Given the description of an element on the screen output the (x, y) to click on. 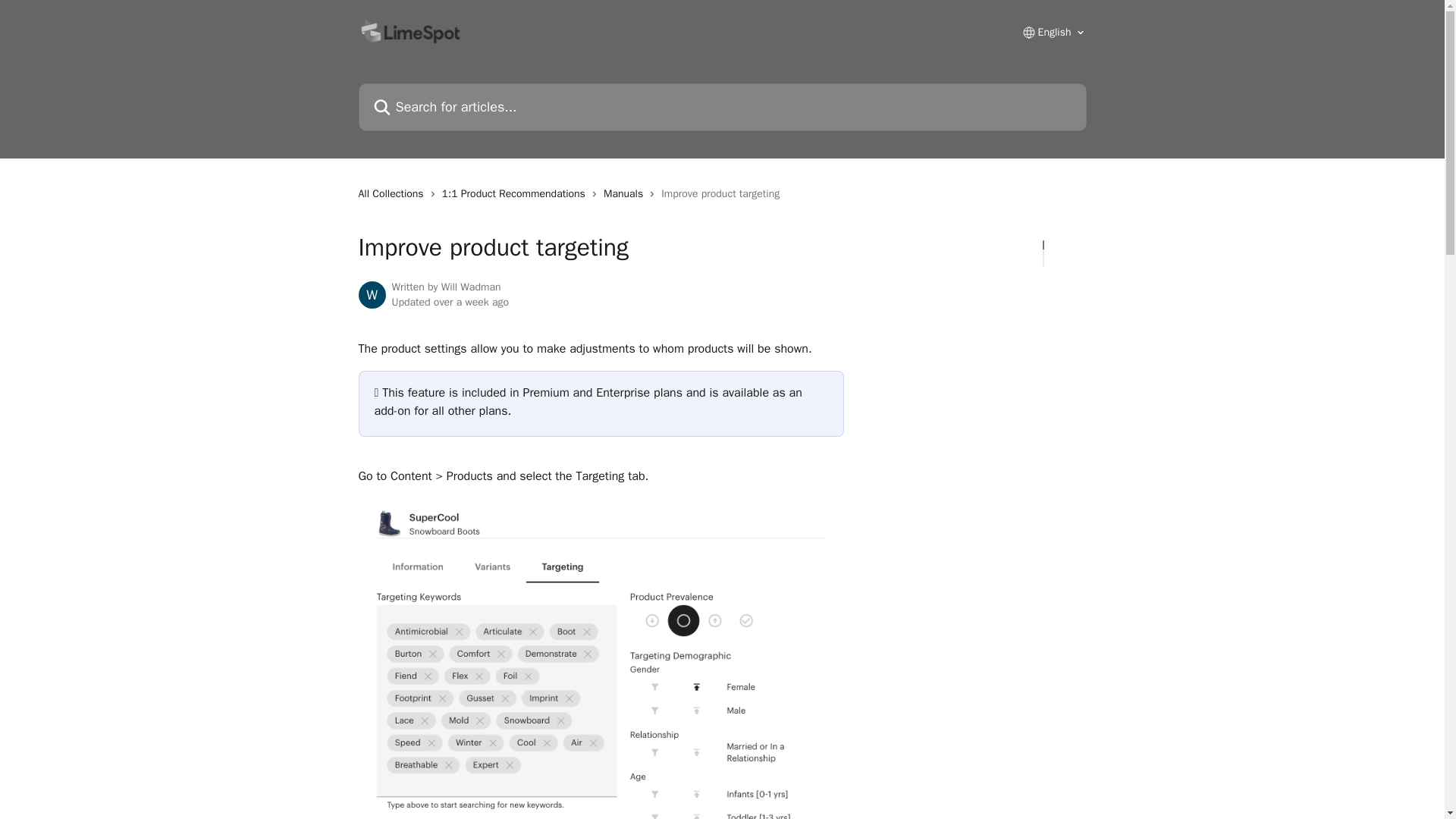
1:1 Product Recommendations (516, 193)
Manuals (626, 193)
All Collections (393, 193)
